Given the description of an element on the screen output the (x, y) to click on. 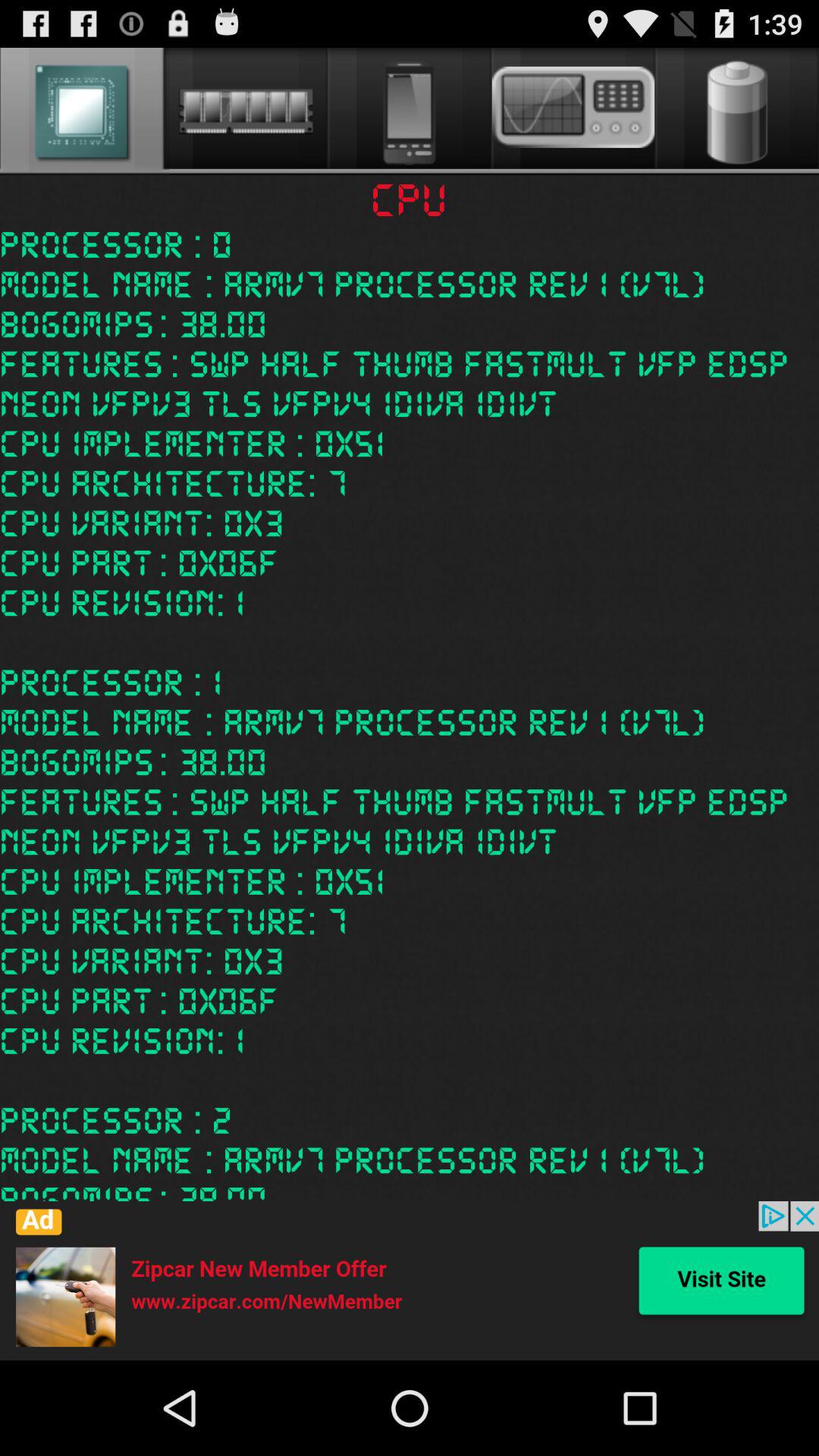
make advertisement (409, 1280)
